Given the description of an element on the screen output the (x, y) to click on. 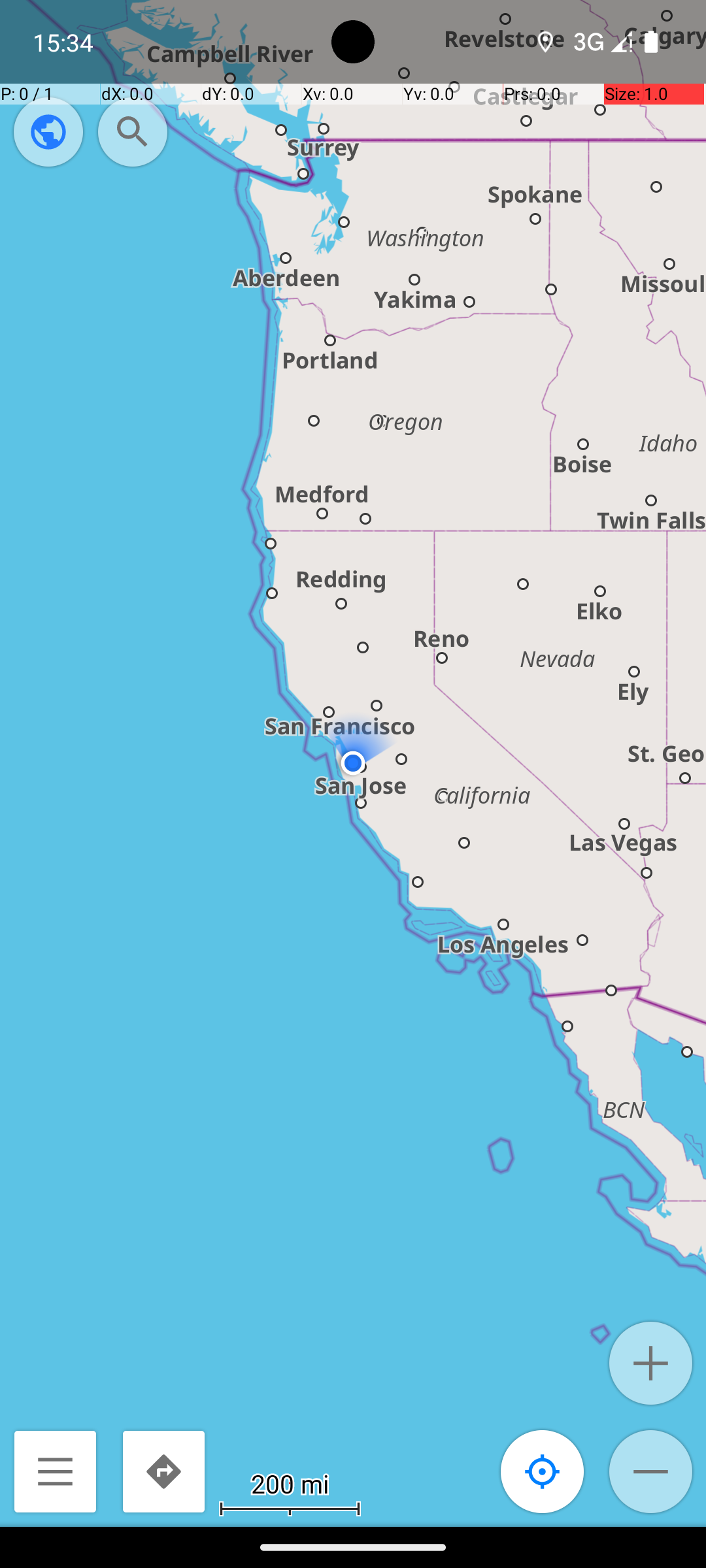
200 mi Element type: android.widget.TextView (289, 1483)
Map linked to location Element type: android.widget.ImageButton (542, 1471)
